Given the description of an element on the screen output the (x, y) to click on. 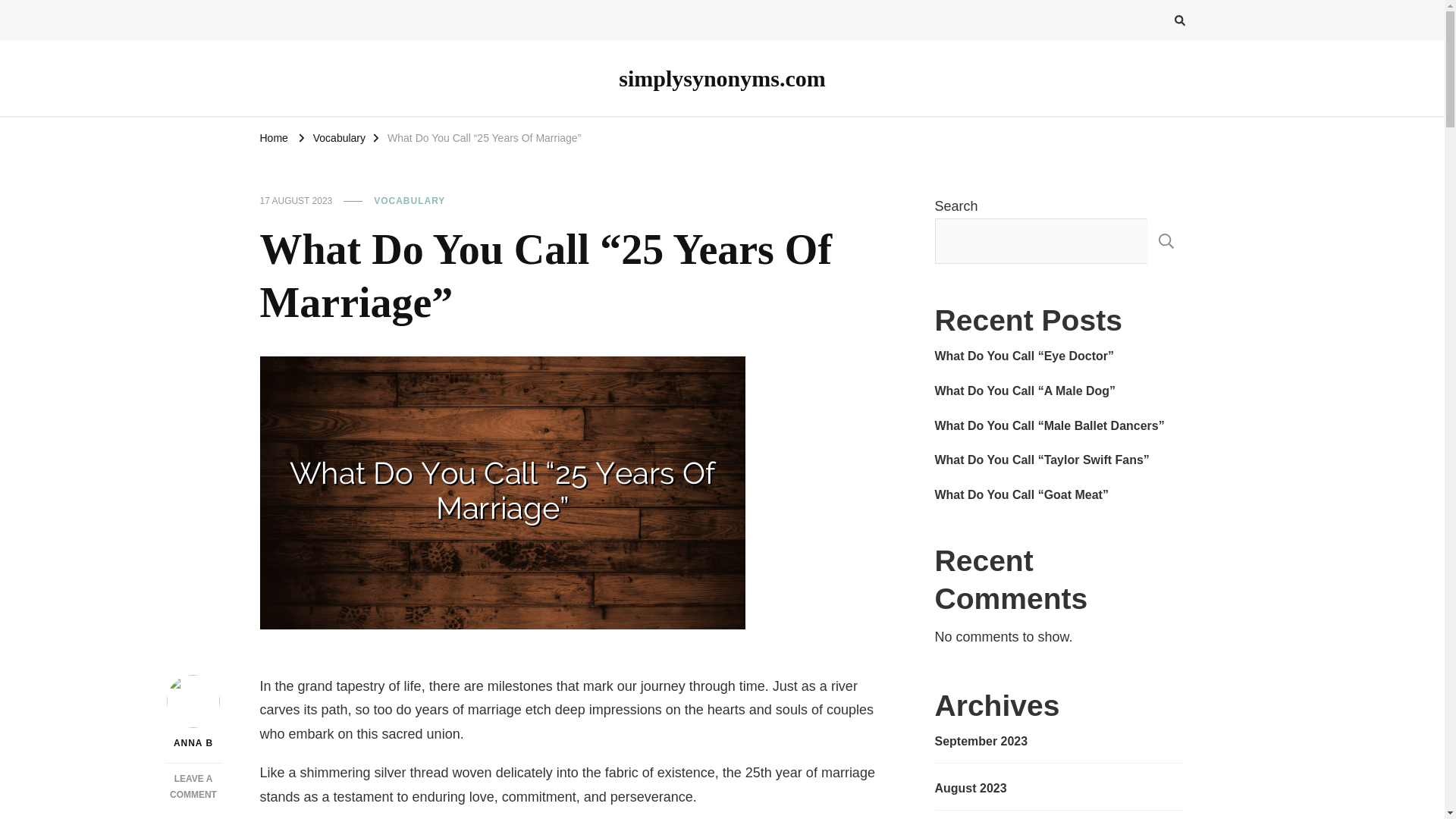
17 AUGUST 2023 (295, 201)
Home (272, 137)
August 2023 (970, 788)
VOCABULARY (409, 201)
simplysynonyms.com (721, 78)
Search (1152, 22)
September 2023 (980, 741)
Vocabulary (339, 137)
